Given the description of an element on the screen output the (x, y) to click on. 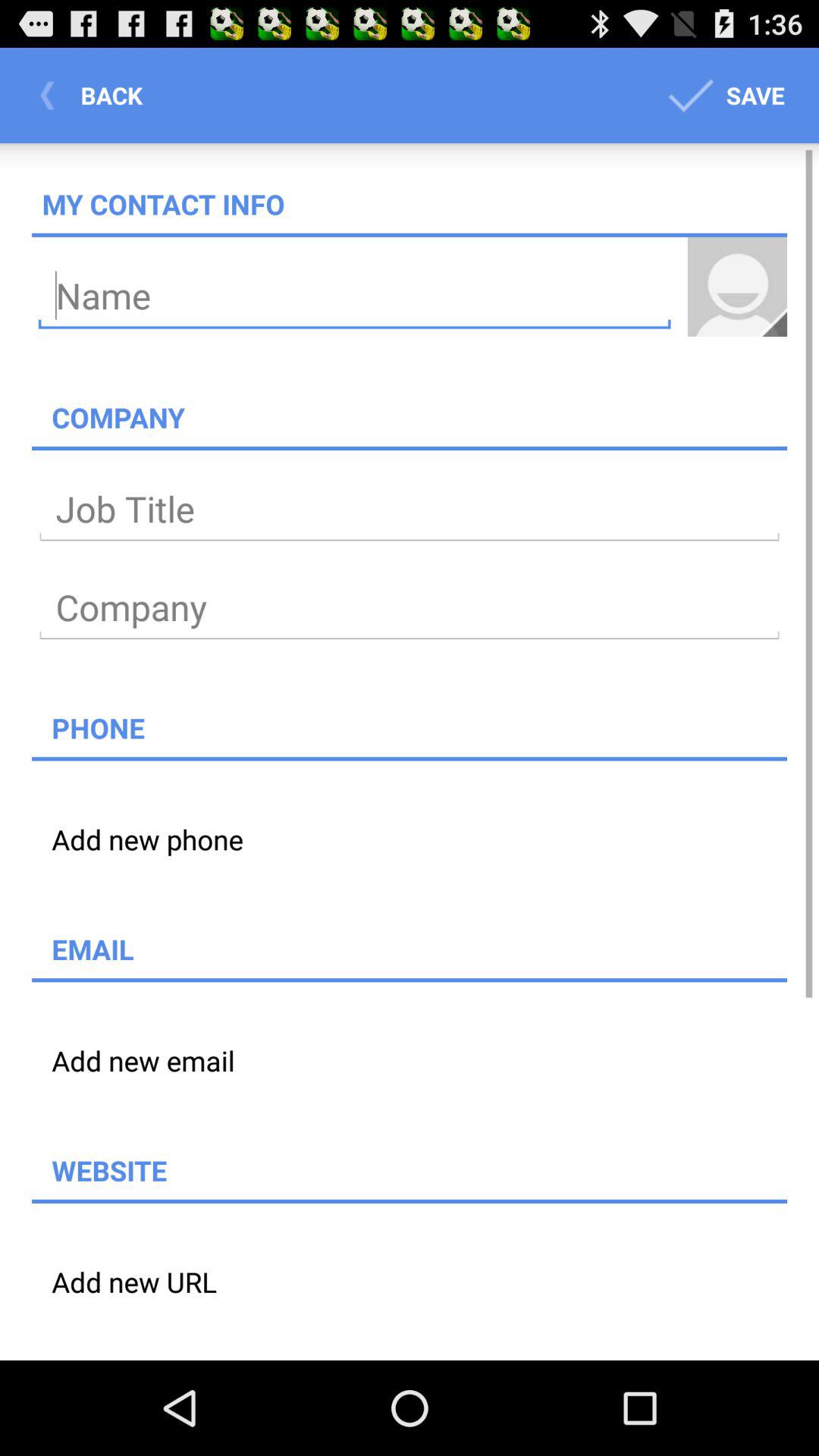
enter job title (409, 509)
